Given the description of an element on the screen output the (x, y) to click on. 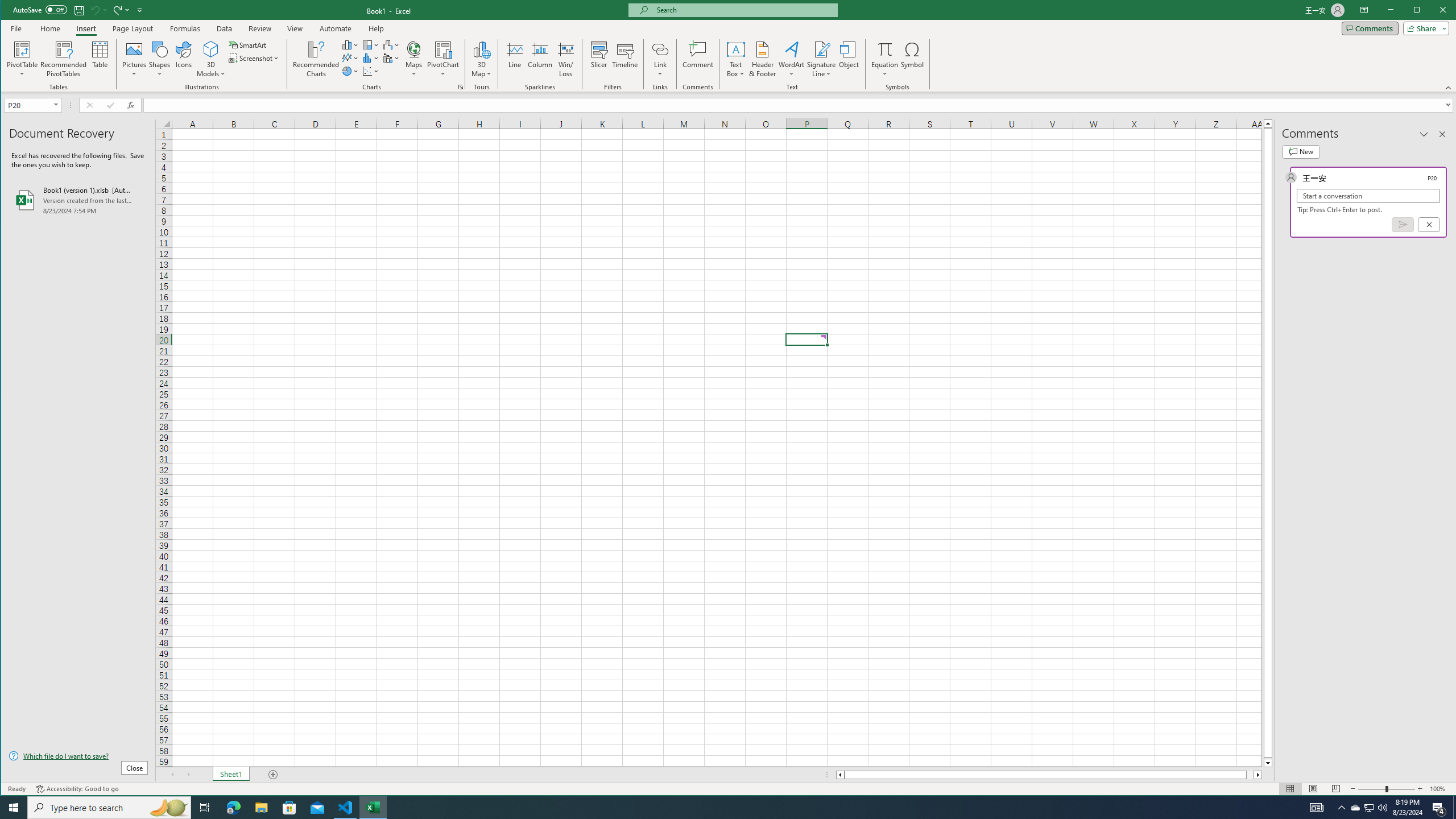
Pictures (134, 59)
Cancel (1428, 224)
Quick Access Toolbar (79, 9)
Class: MsoCommandBar (728, 45)
Insert Hierarchy Chart (371, 44)
Which file do I want to save? (78, 755)
Microsoft search (742, 10)
Slicer... (598, 59)
Redo (120, 9)
Comment (697, 59)
Task Pane Options (1423, 133)
Excel - 1 running window (373, 807)
Start (13, 807)
Insert Statistic Chart (371, 57)
Link (659, 59)
